Given the description of an element on the screen output the (x, y) to click on. 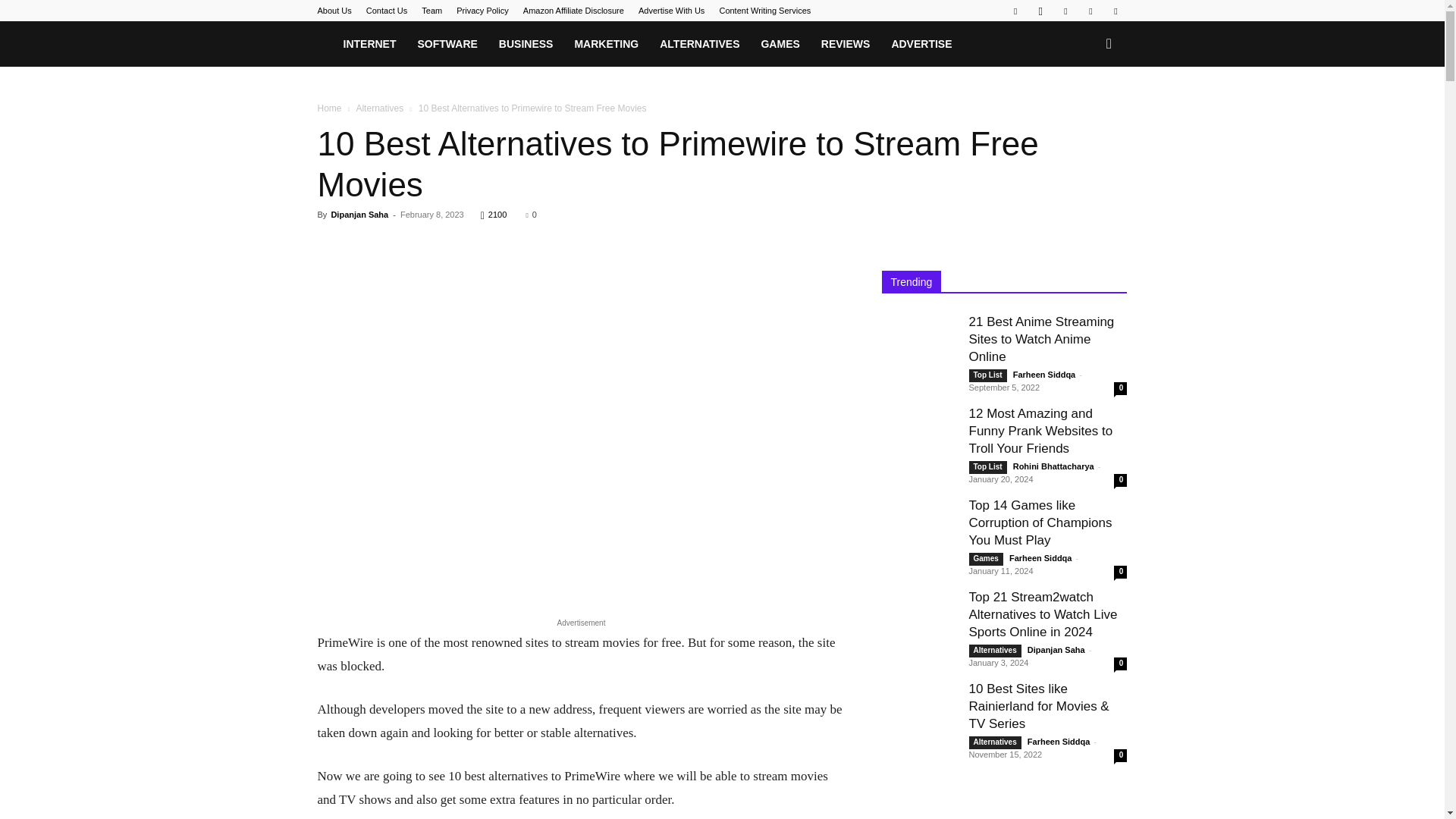
INTERNET (368, 43)
Instagram (1040, 10)
Amazon Affiliate Disclosure (573, 10)
Facebook (1015, 10)
Content Writing Services (764, 10)
SOFTWARE (446, 43)
View all posts in Alternatives (379, 108)
Pinterest (1090, 10)
Twitter (1114, 10)
Contact Us (386, 10)
